Given the description of an element on the screen output the (x, y) to click on. 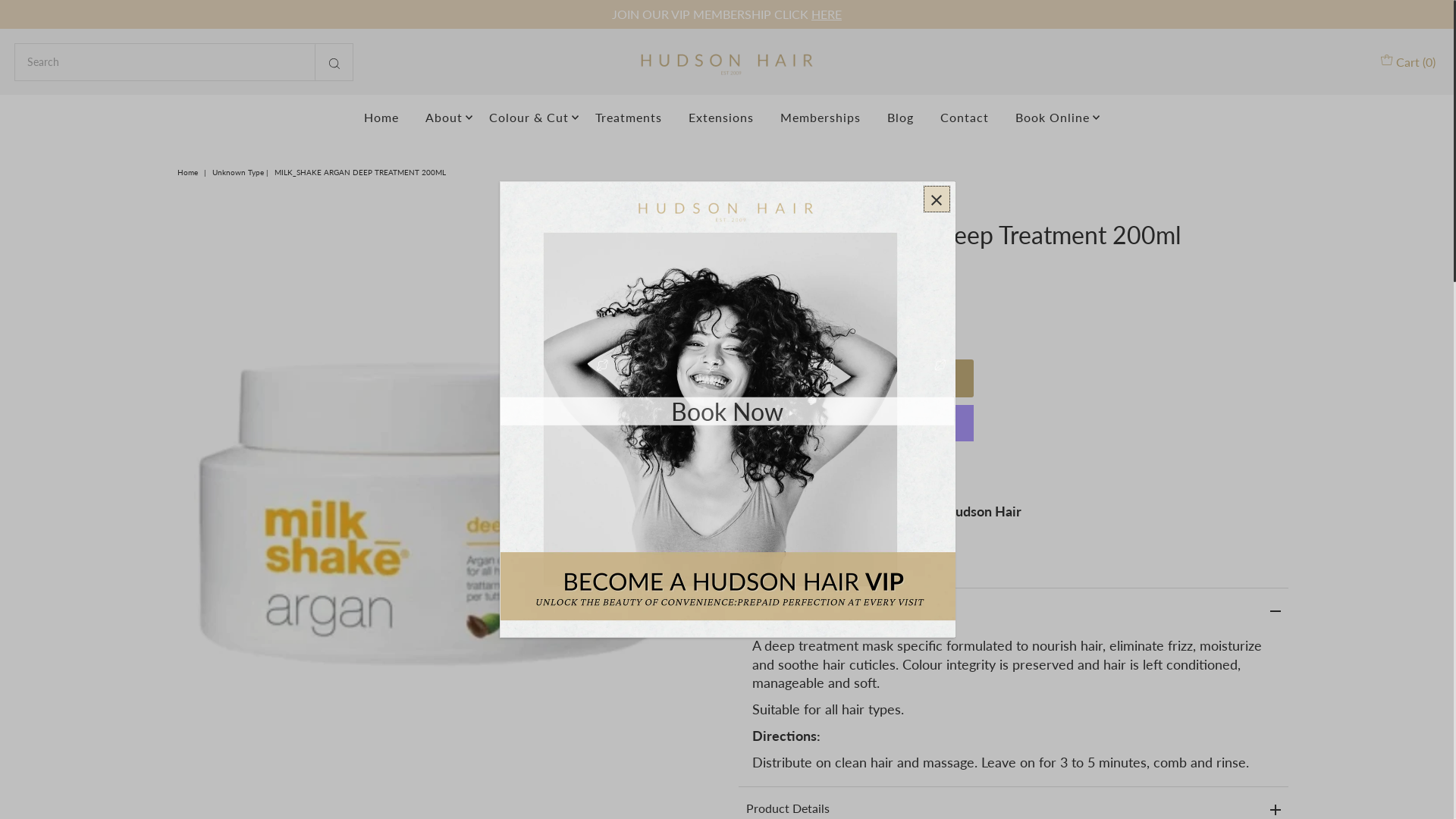
Treatments Element type: text (628, 117)
- Element type: text (753, 328)
HERE Element type: text (826, 13)
Contact Element type: text (964, 117)
View store information Element type: text (815, 545)
Extensions Element type: text (721, 117)
Book Online Element type: text (1052, 117)
Memberships Element type: text (820, 117)
Colour & Cut Element type: text (528, 117)
Home Element type: text (381, 117)
More payment options Element type: text (855, 473)
Blog Element type: text (900, 117)
+ Element type: text (797, 328)
Sold Out Element type: text (855, 378)
Sold Out Element type: text (1224, 773)
Click to zoom Element type: hover (691, 244)
Book Now Element type: text (726, 411)
Product Description Element type: text (1013, 608)
Home Element type: text (189, 171)
About Element type: text (443, 117)
